Given the description of an element on the screen output the (x, y) to click on. 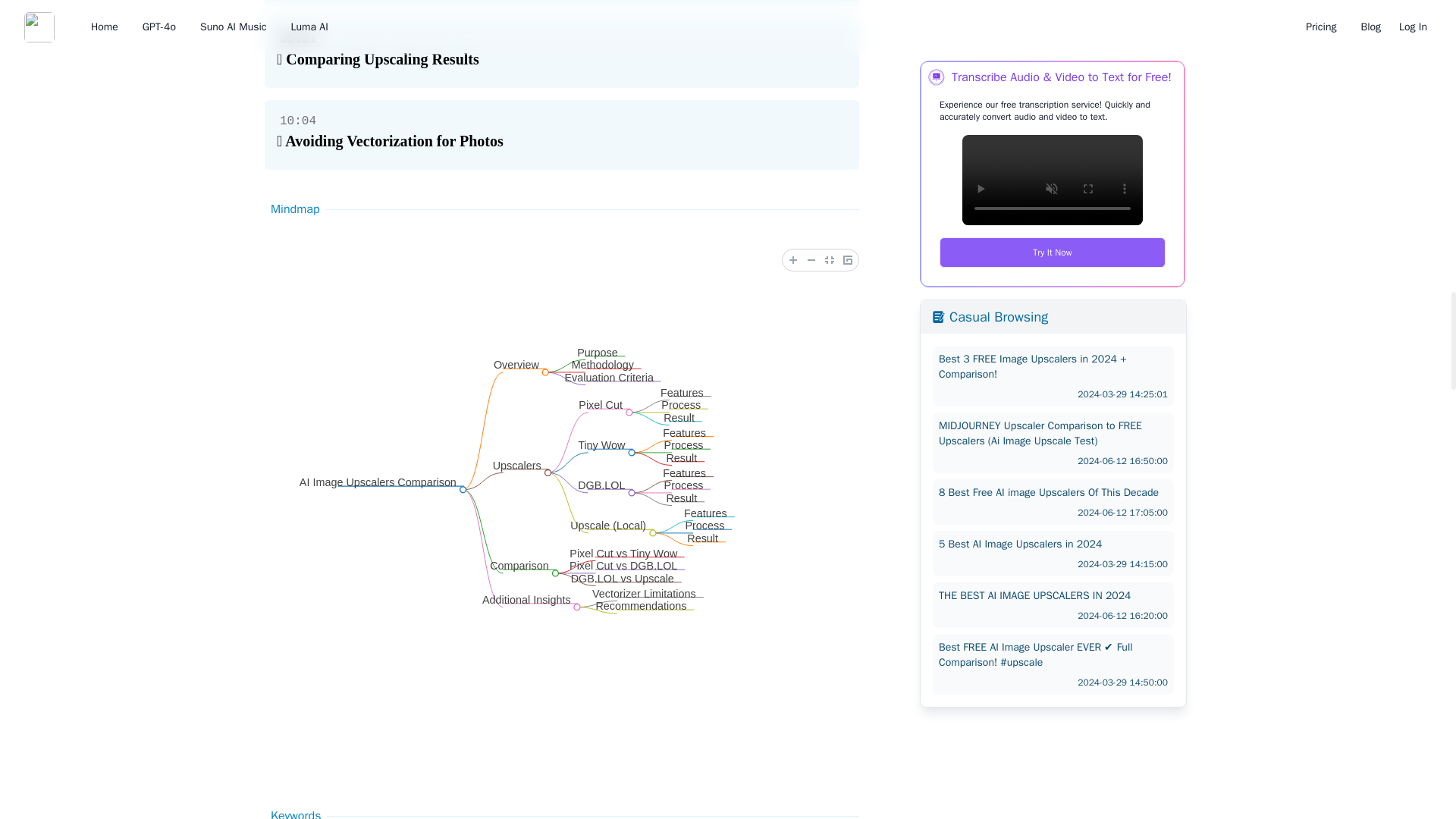
Toggle recursively (848, 259)
Zoom in (793, 259)
Fit window size (829, 259)
Zoom out (810, 259)
